Given the description of an element on the screen output the (x, y) to click on. 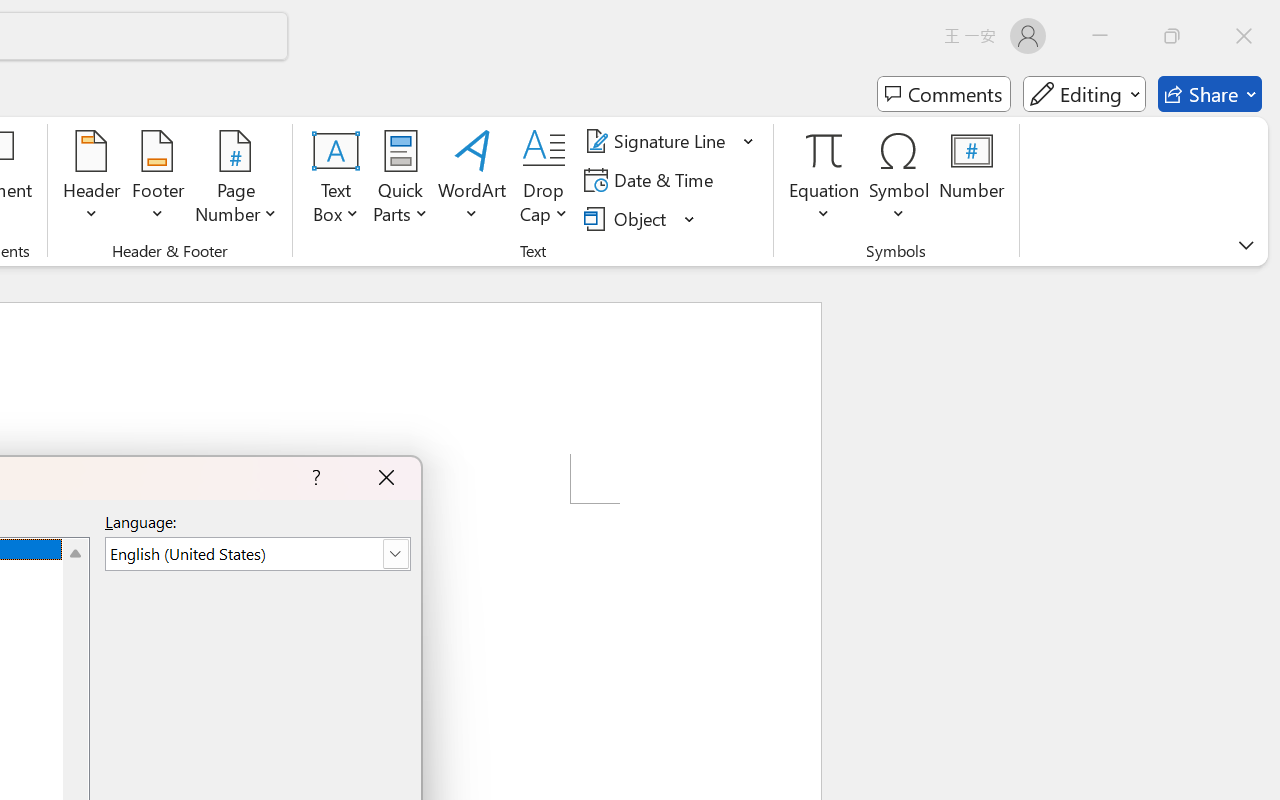
Equation (823, 179)
Share (1210, 94)
Header (92, 179)
Date & Time... (651, 179)
Ribbon Display Options (1246, 245)
Mode (1083, 94)
Language: (257, 553)
Object... (628, 218)
Signature Line (669, 141)
Object... (640, 218)
Restore Down (1172, 36)
Text Box (335, 179)
Drop Cap (543, 179)
